Given the description of an element on the screen output the (x, y) to click on. 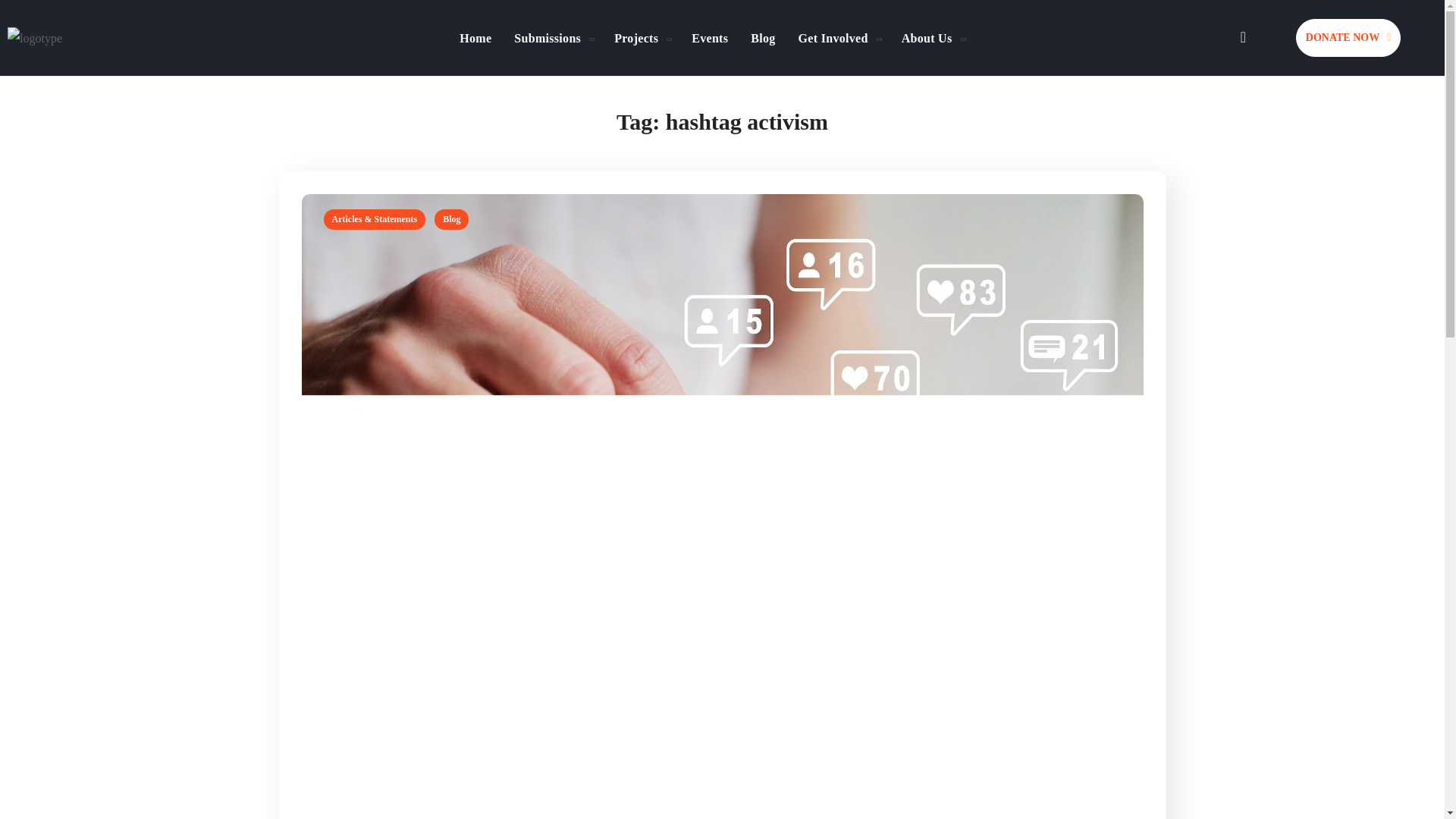
Submissions (552, 37)
Projects (640, 37)
Search (1203, 120)
Events (709, 37)
DONATE NOW (1347, 37)
Home (475, 37)
About Us (931, 37)
Blog (762, 37)
Get Involved (838, 37)
